Given the description of an element on the screen output the (x, y) to click on. 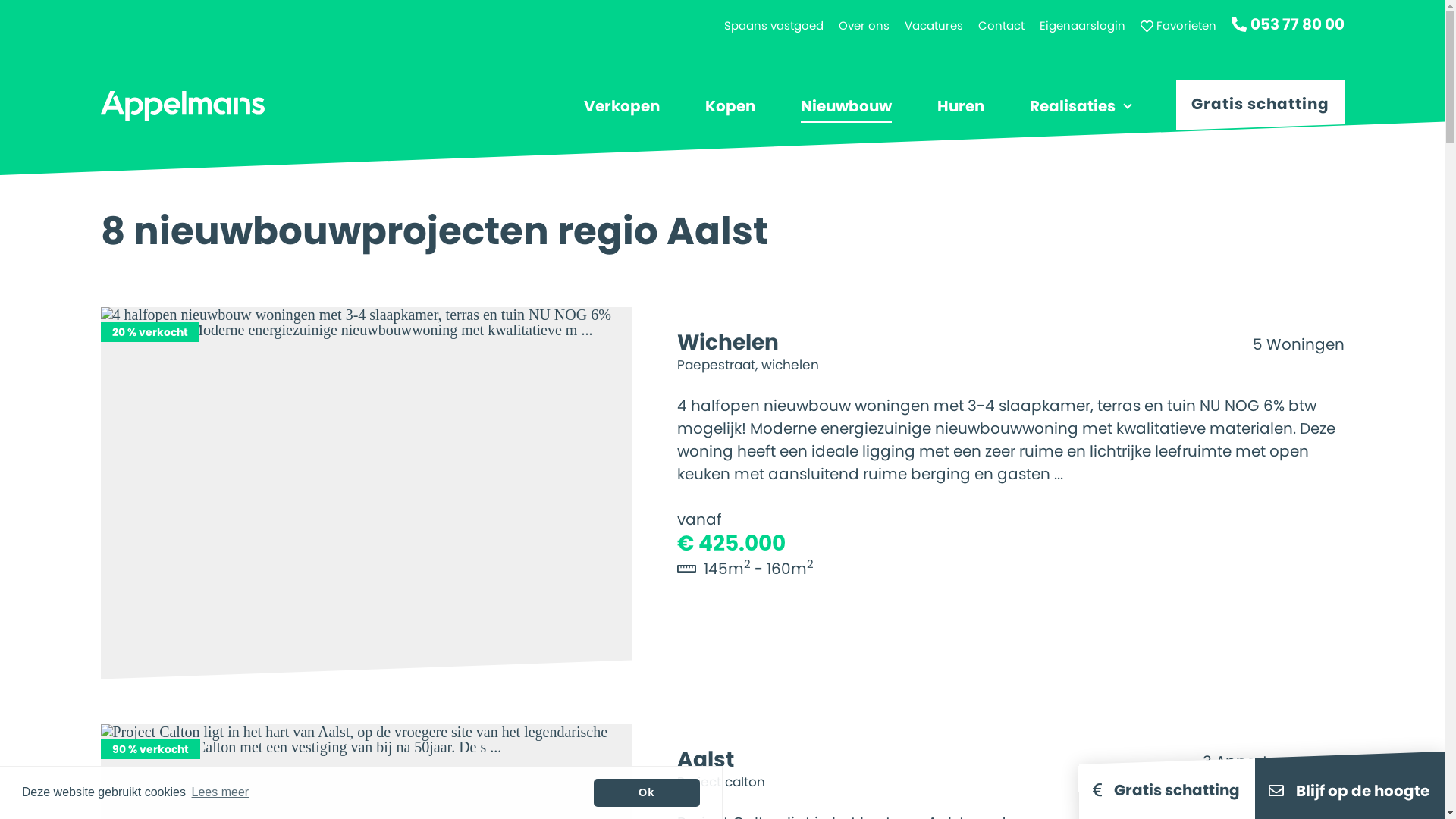
Ok Element type: text (646, 792)
Huren Element type: text (960, 105)
Vacatures Element type: text (932, 25)
Eigenaarslogin Element type: text (1081, 25)
Realisaties Element type: text (1072, 105)
Gratis schatting Element type: text (1259, 111)
Contact Element type: text (1001, 25)
Kopen Element type: text (730, 105)
Over ons Element type: text (863, 25)
Lees meer Element type: text (219, 792)
Spaans vastgoed Element type: text (772, 25)
Nieuwbouw Element type: text (845, 105)
Verkopen Element type: text (621, 105)
053 77 80 00 Element type: text (1287, 23)
Favorieten Element type: text (1178, 25)
